Given the description of an element on the screen output the (x, y) to click on. 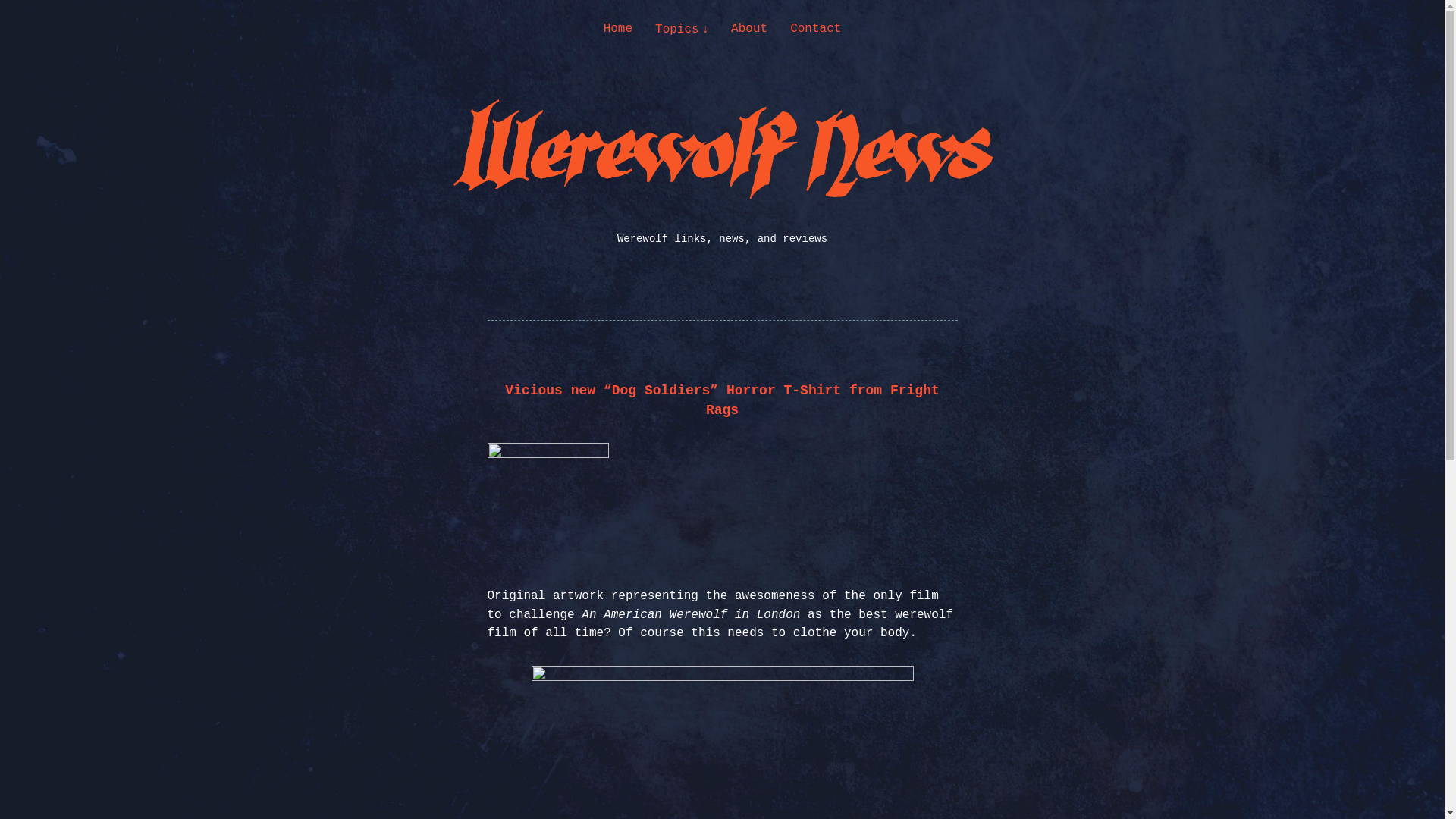
Home (617, 29)
Werewolf News (143, 186)
Contact (815, 29)
Topics (681, 29)
Dog Soldiers T-Shirt (721, 742)
About (748, 29)
